Given the description of an element on the screen output the (x, y) to click on. 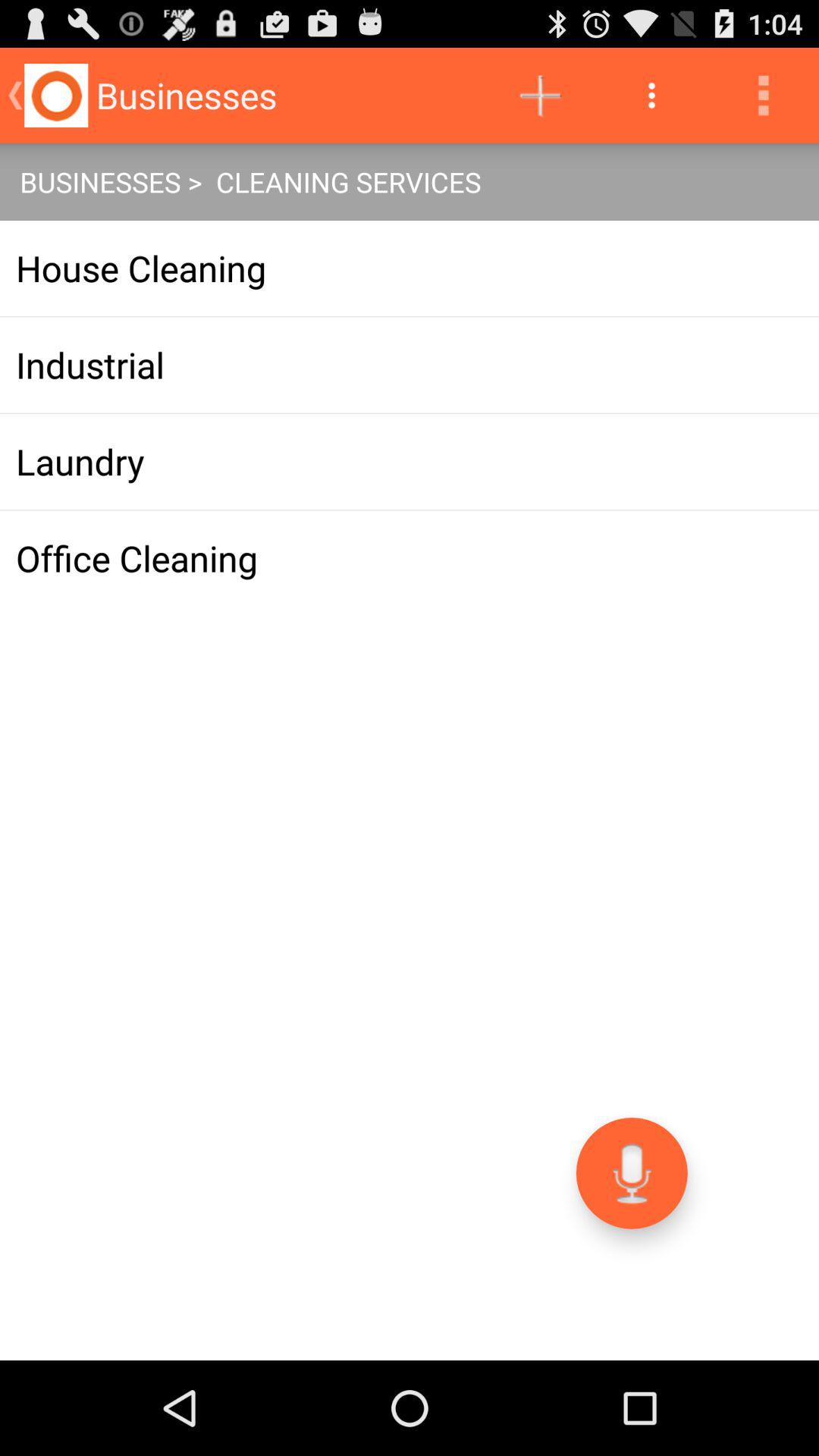
turn off the laundry icon (409, 461)
